Given the description of an element on the screen output the (x, y) to click on. 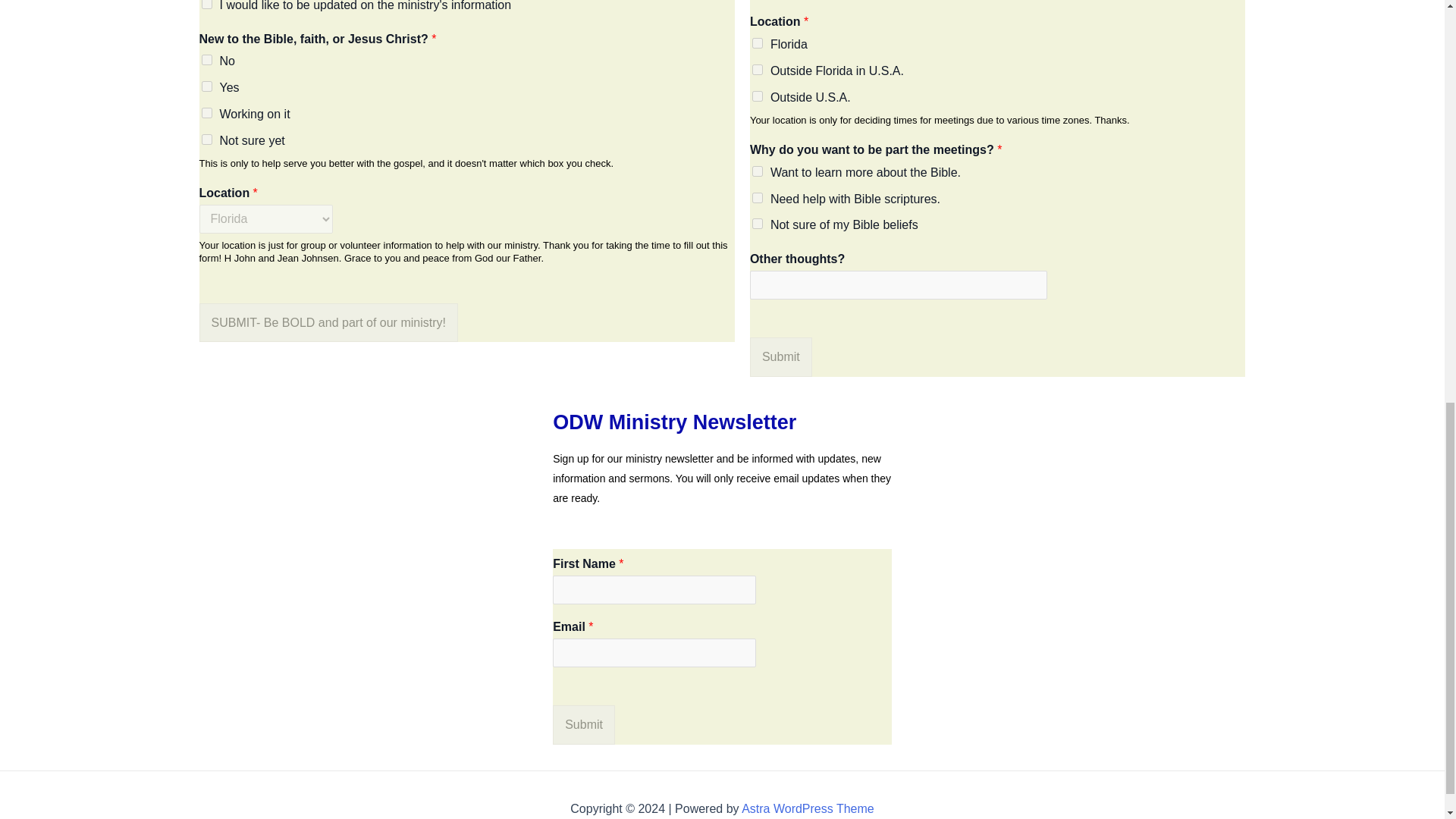
I would like to be updated on the ministry's information (207, 4)
Yes (207, 86)
Working on it (207, 112)
Florida (757, 42)
Not sure yet (207, 139)
Outside Florida in U.S.A. (757, 69)
No (207, 59)
